Given the description of an element on the screen output the (x, y) to click on. 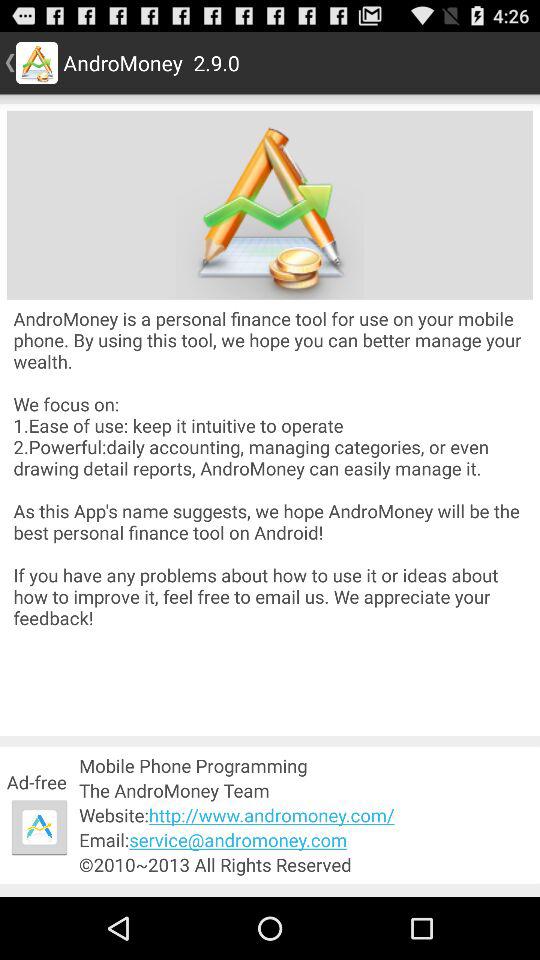
select the company option (269, 204)
